Given the description of an element on the screen output the (x, y) to click on. 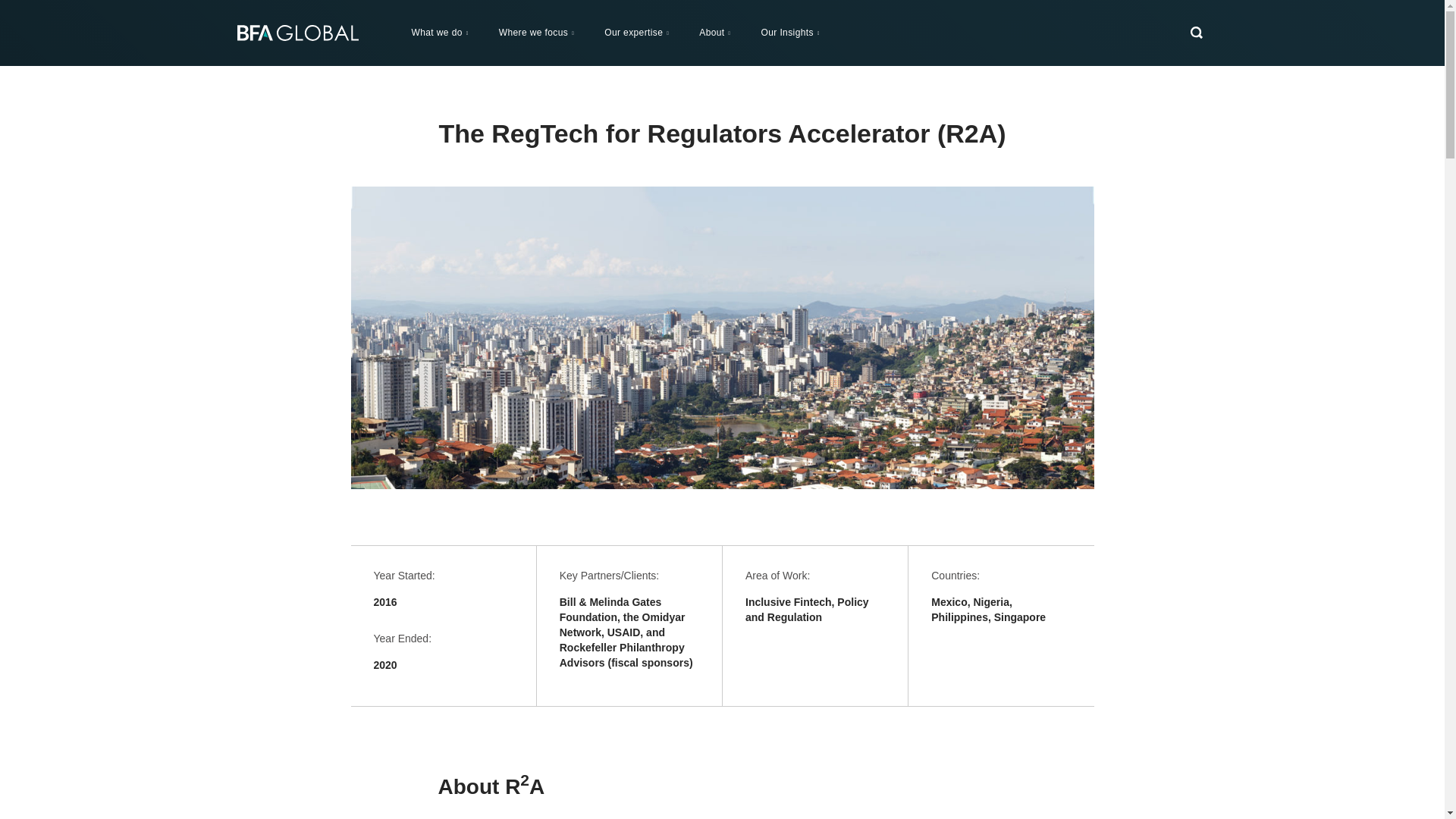
What we do (439, 32)
Our Insights (789, 32)
Where we focus (536, 32)
About (714, 32)
Our expertise (636, 32)
